Given the description of an element on the screen output the (x, y) to click on. 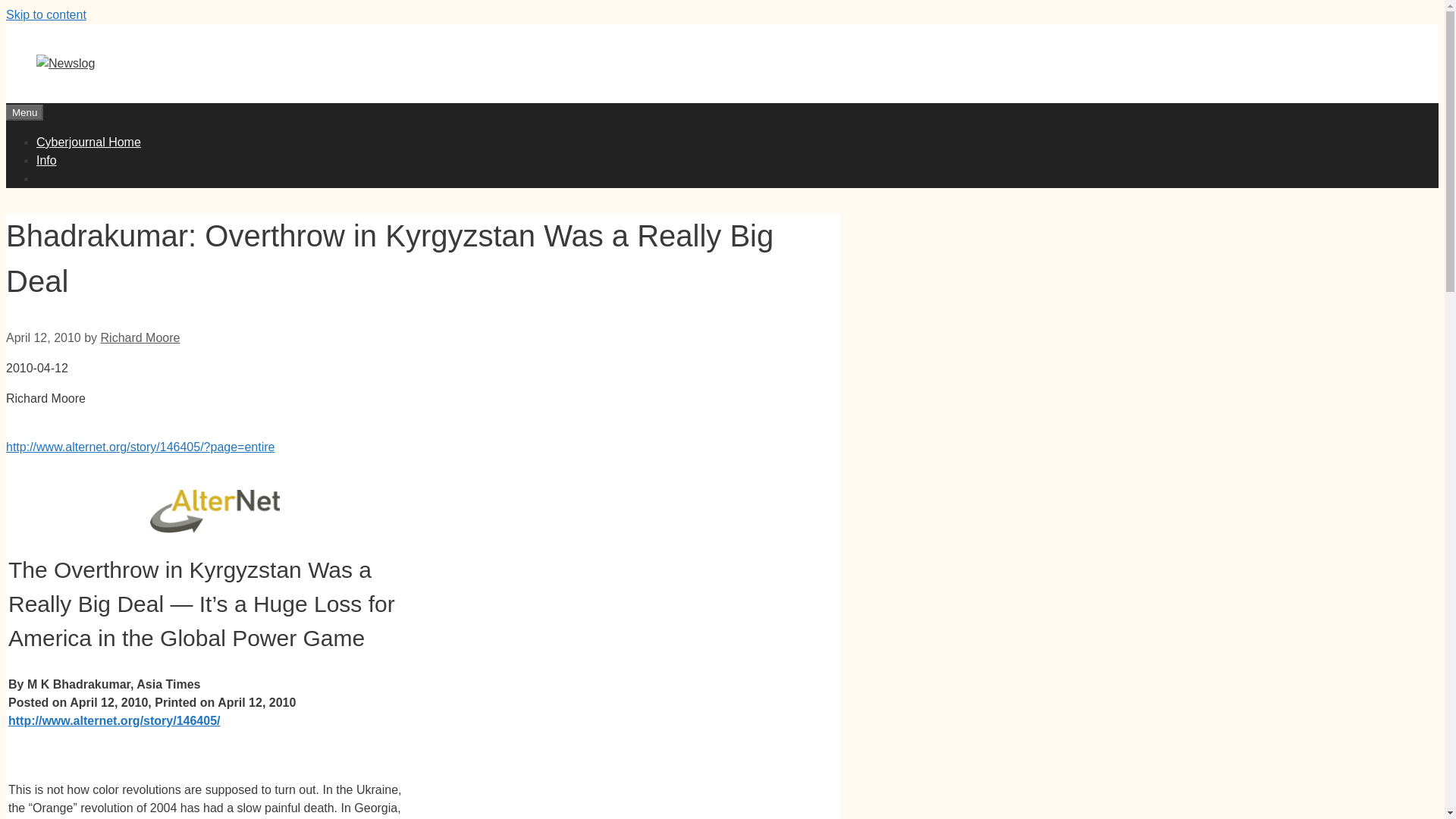
Info (46, 160)
Skip to content (45, 14)
Skip to content (45, 14)
View all posts by Richard Moore (140, 337)
Cyberjournal Home (88, 141)
Menu (24, 112)
Richard Moore (140, 337)
